Given the description of an element on the screen output the (x, y) to click on. 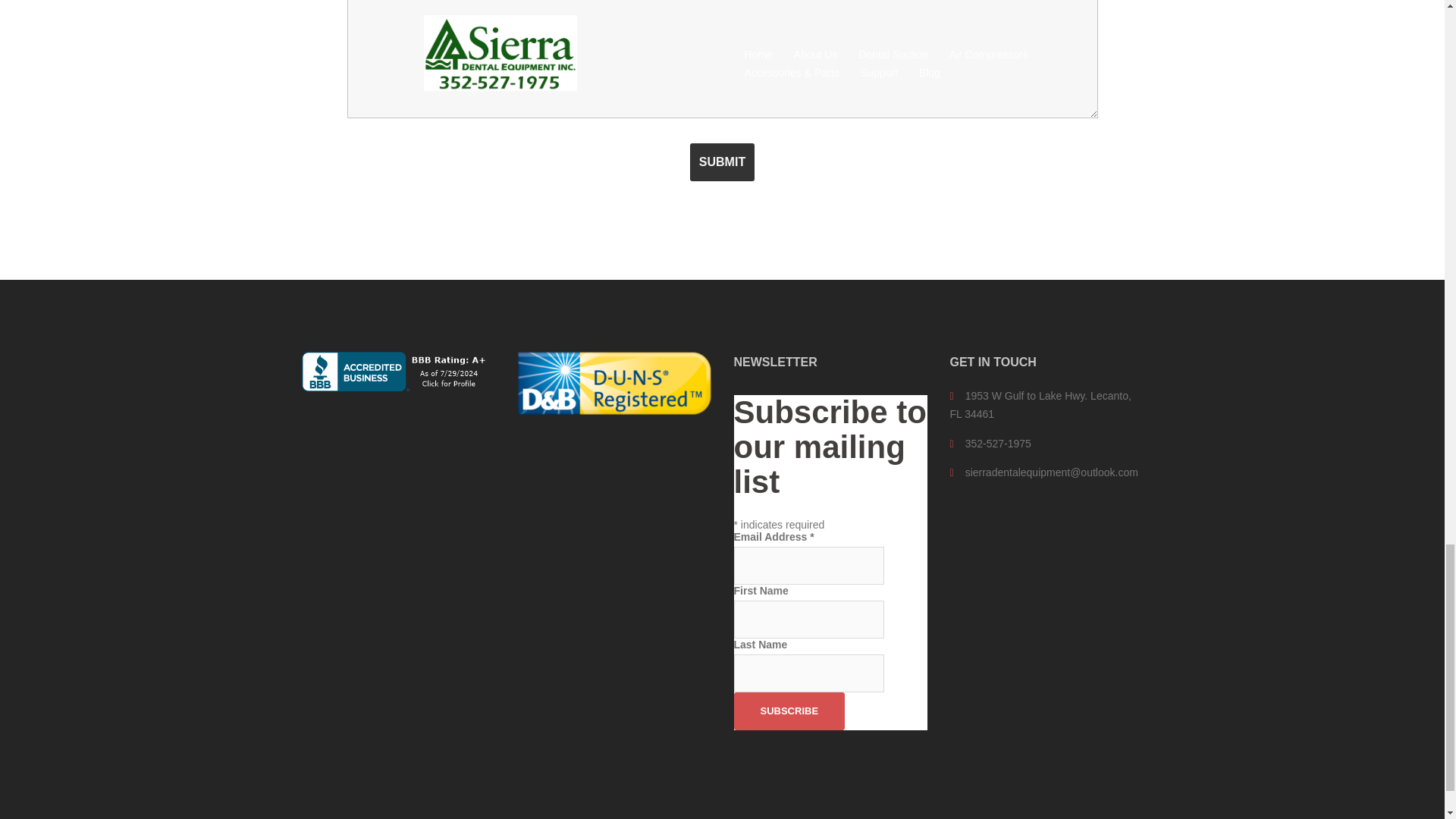
Subscribe (789, 711)
Subscribe (789, 711)
Submit (722, 161)
